Given the description of an element on the screen output the (x, y) to click on. 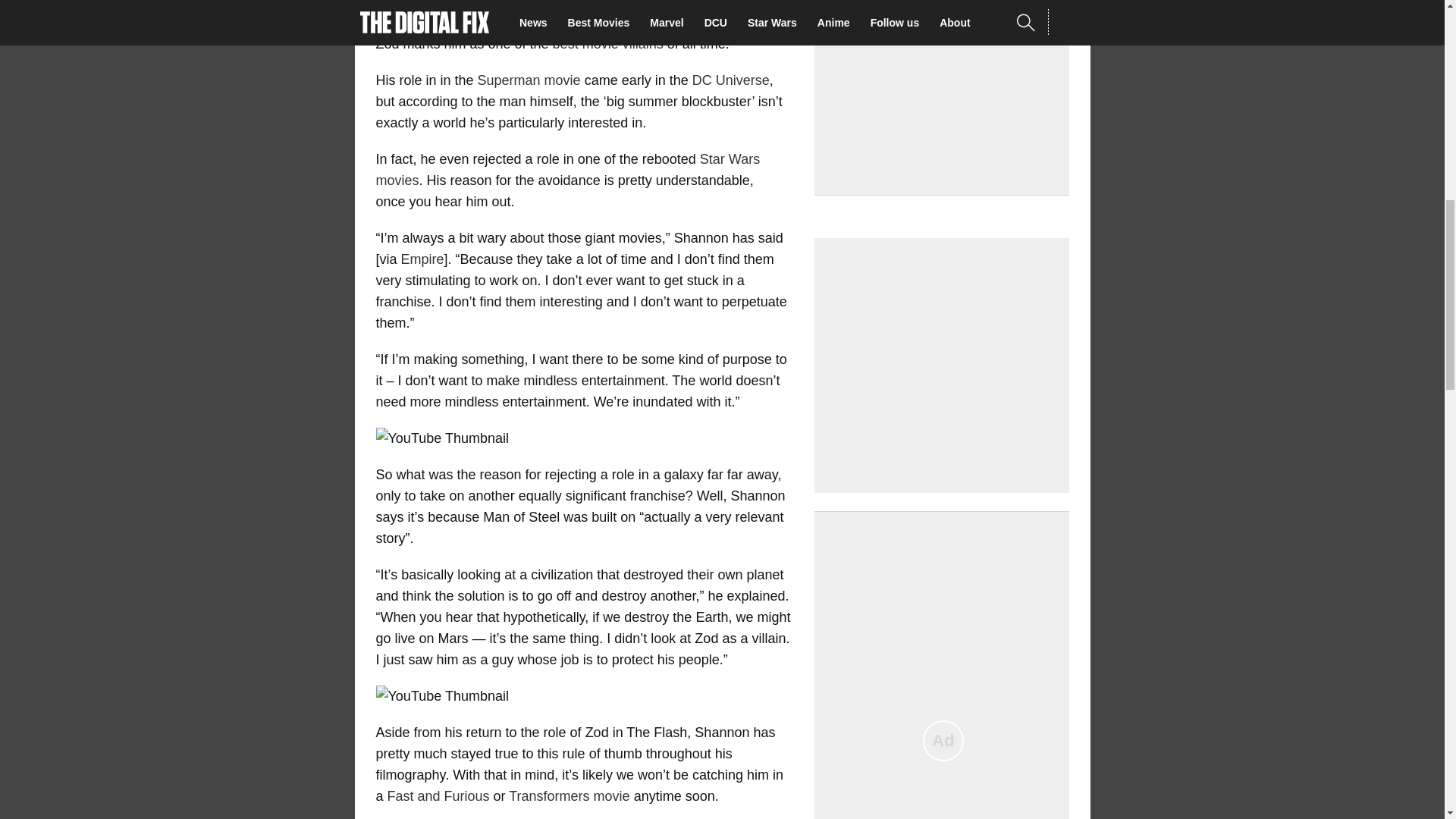
best movie villains (608, 43)
superhero movies (445, 22)
Michael Shannon (640, 22)
